Given the description of an element on the screen output the (x, y) to click on. 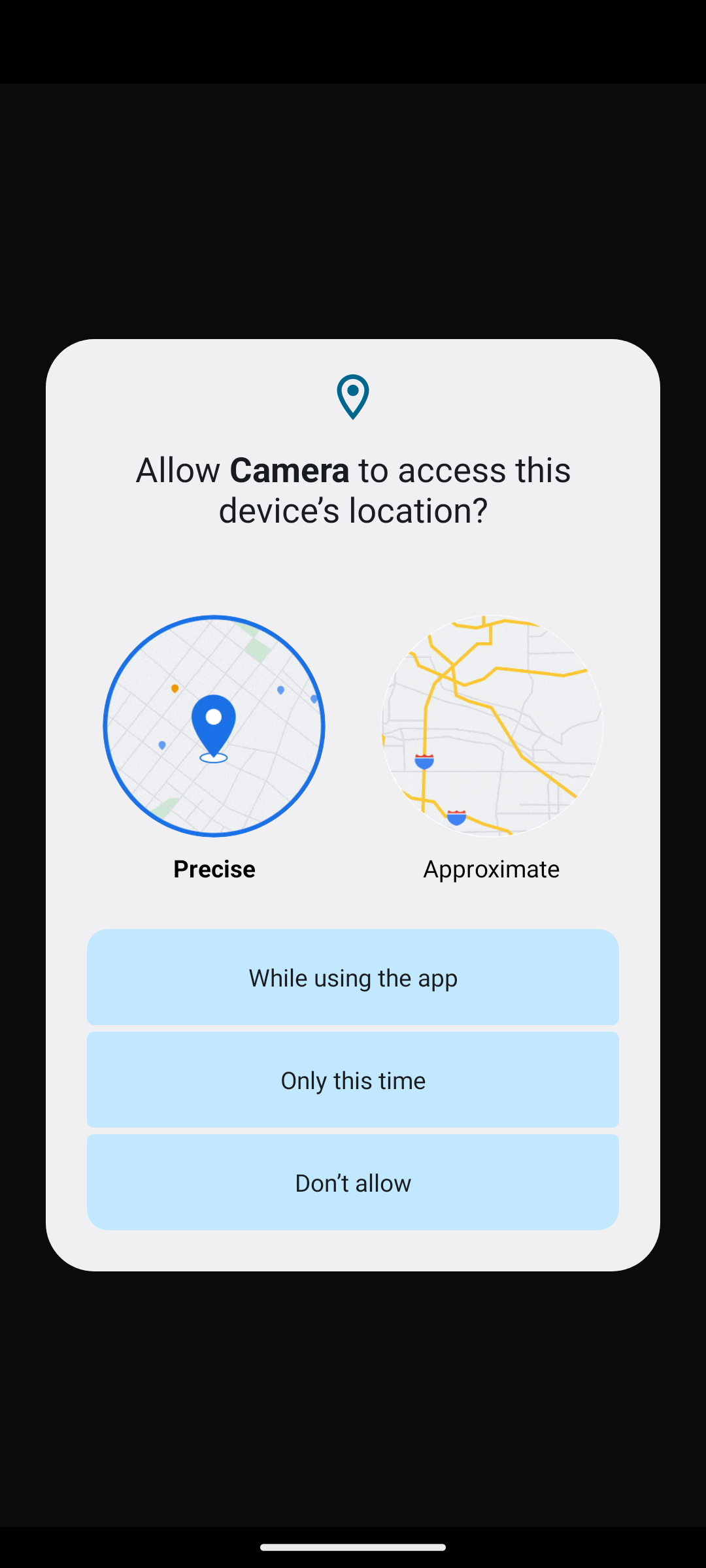
Precise (213, 749)
Approximate (491, 749)
While using the app (352, 976)
Only this time (352, 1079)
Don’t allow (352, 1181)
